Given the description of an element on the screen output the (x, y) to click on. 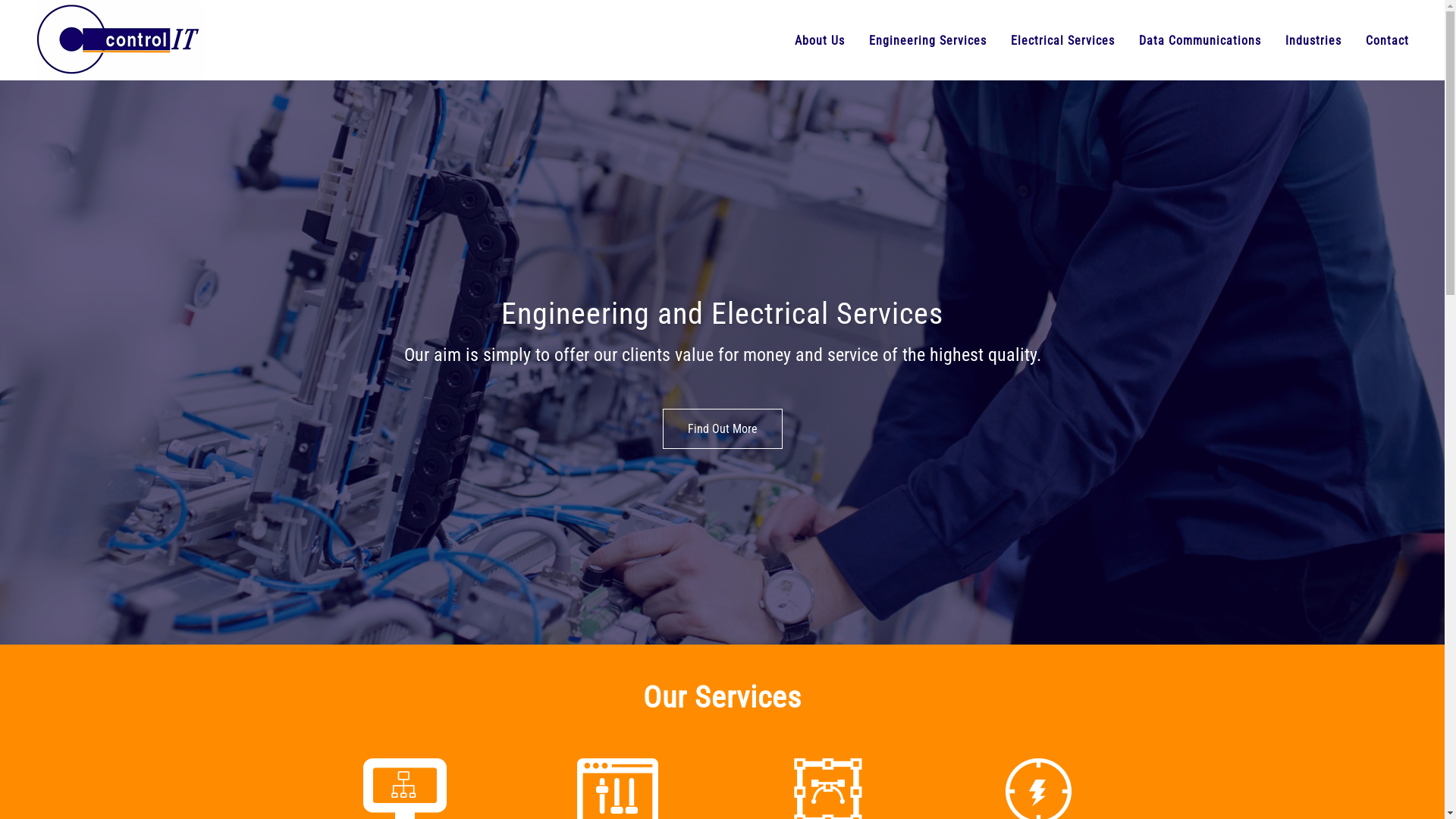
Find Out More Element type: text (722, 428)
About Us Element type: text (819, 40)
Contact Element type: text (1386, 40)
Industries Element type: text (1313, 40)
Electrical Services Element type: text (1062, 40)
Data Communications Element type: text (1200, 40)
Engineering Services Element type: text (927, 40)
